Given the description of an element on the screen output the (x, y) to click on. 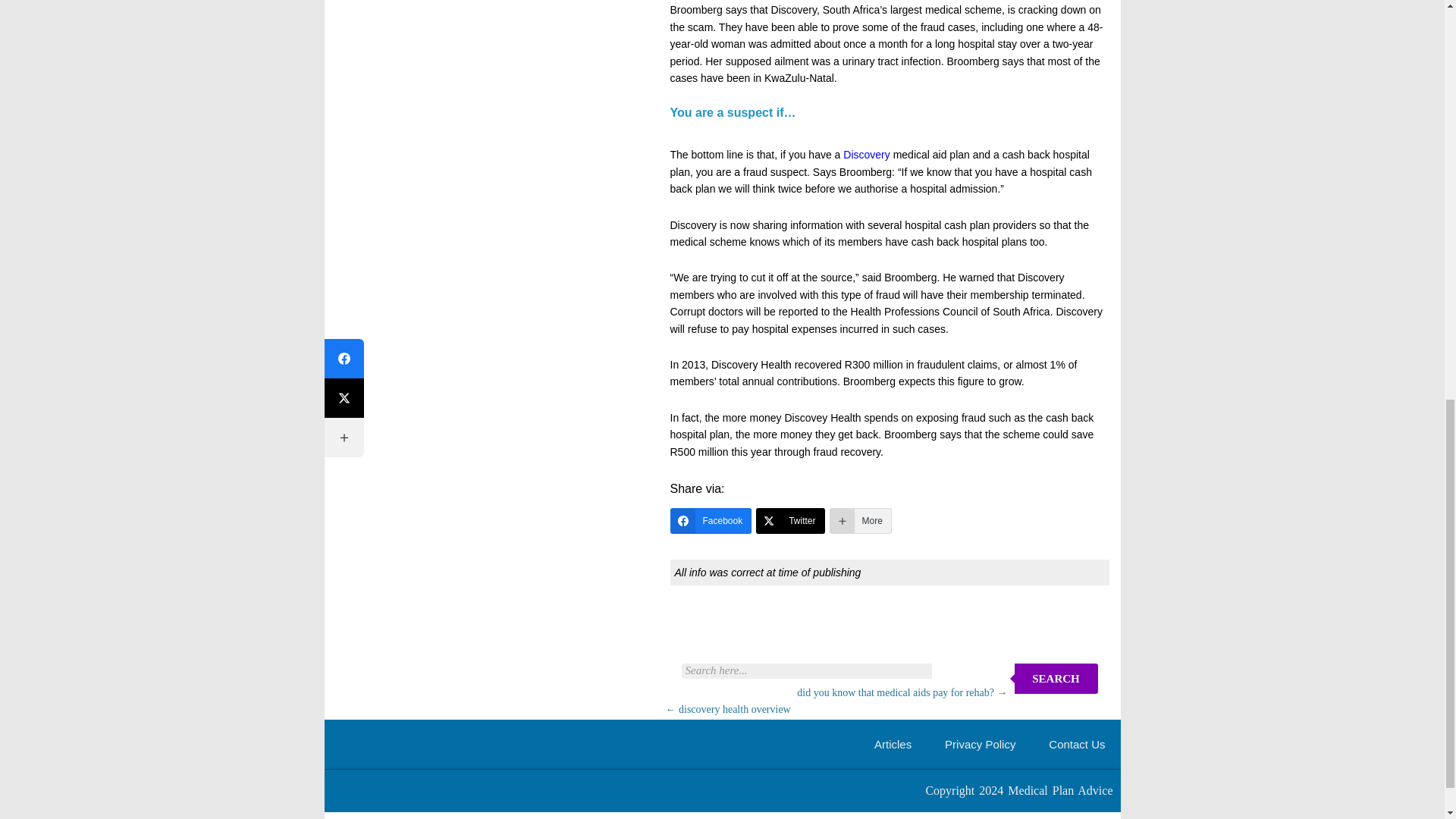
Advertisement (848, 627)
Twitter (789, 520)
Facebook (710, 520)
Contact Us (1076, 744)
SEARCH (1055, 678)
More (860, 520)
Privacy Policy (979, 744)
Articles (893, 744)
Discovery (866, 154)
